Given the description of an element on the screen output the (x, y) to click on. 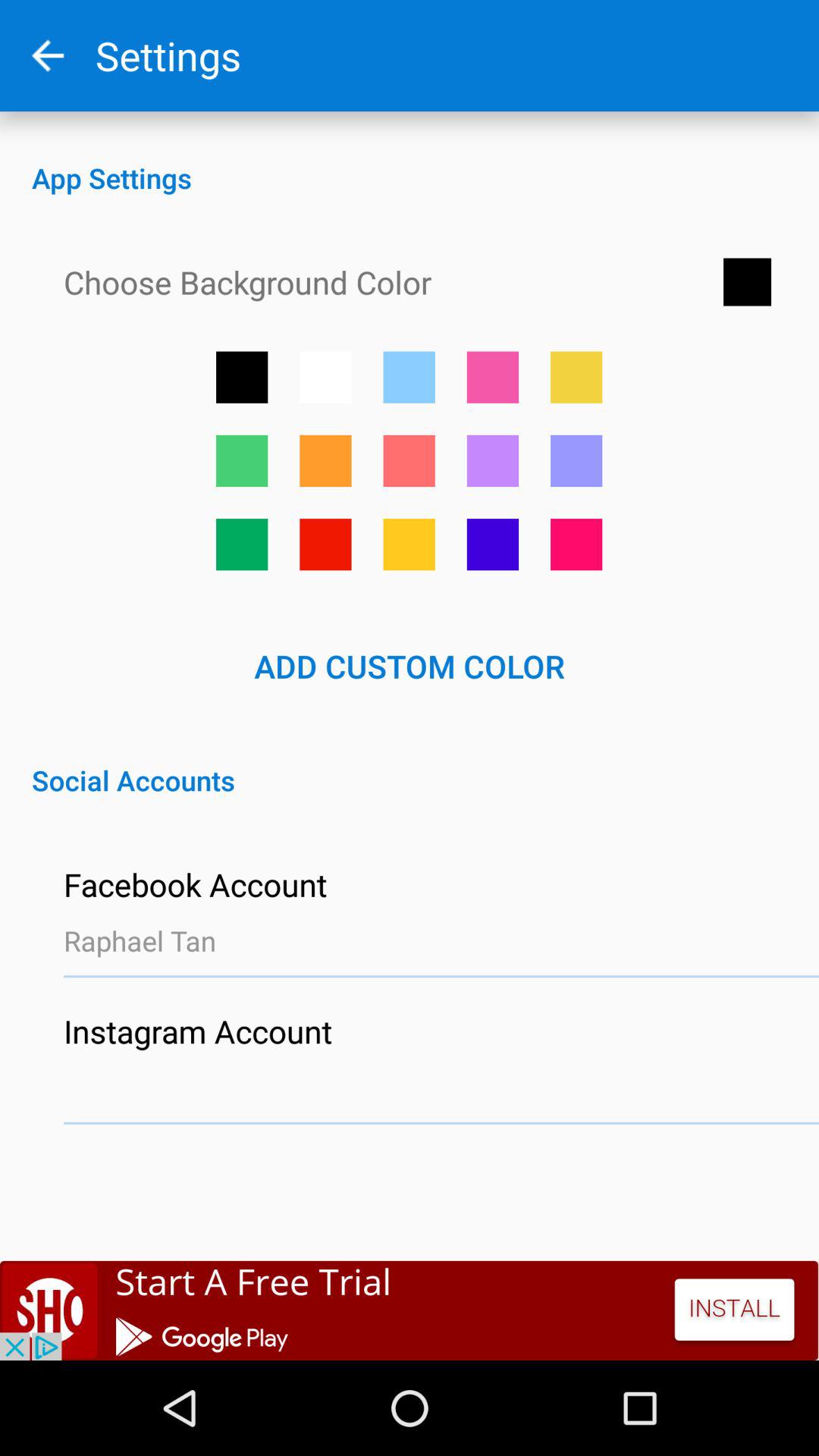
chooses a purple background color (492, 460)
